Given the description of an element on the screen output the (x, y) to click on. 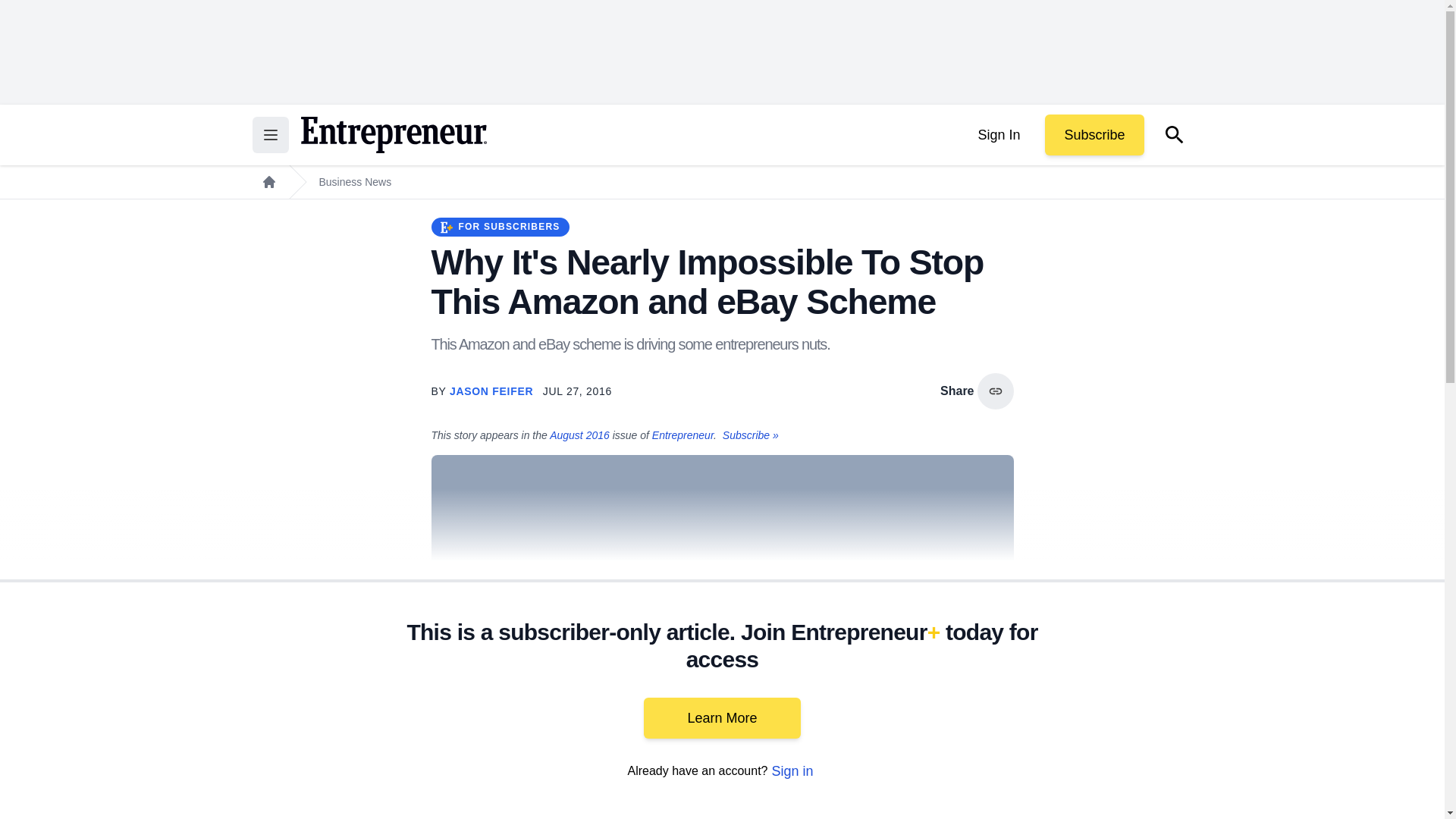
copy (994, 391)
Subscribe (1093, 134)
Return to the home page (392, 135)
Sign In (998, 134)
